Given the description of an element on the screen output the (x, y) to click on. 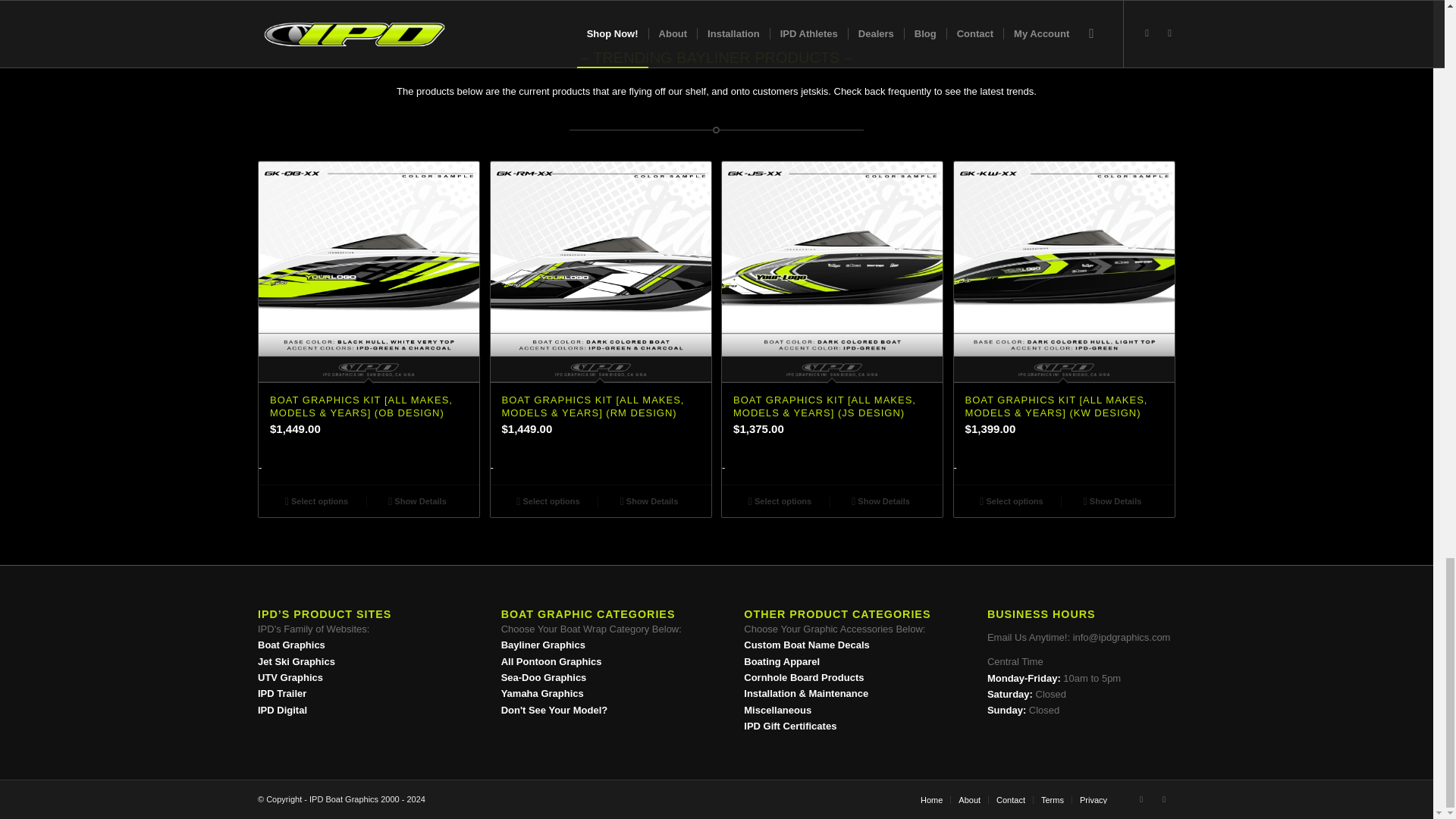
Facebook (1163, 798)
Instagram (1141, 798)
